Given the description of an element on the screen output the (x, y) to click on. 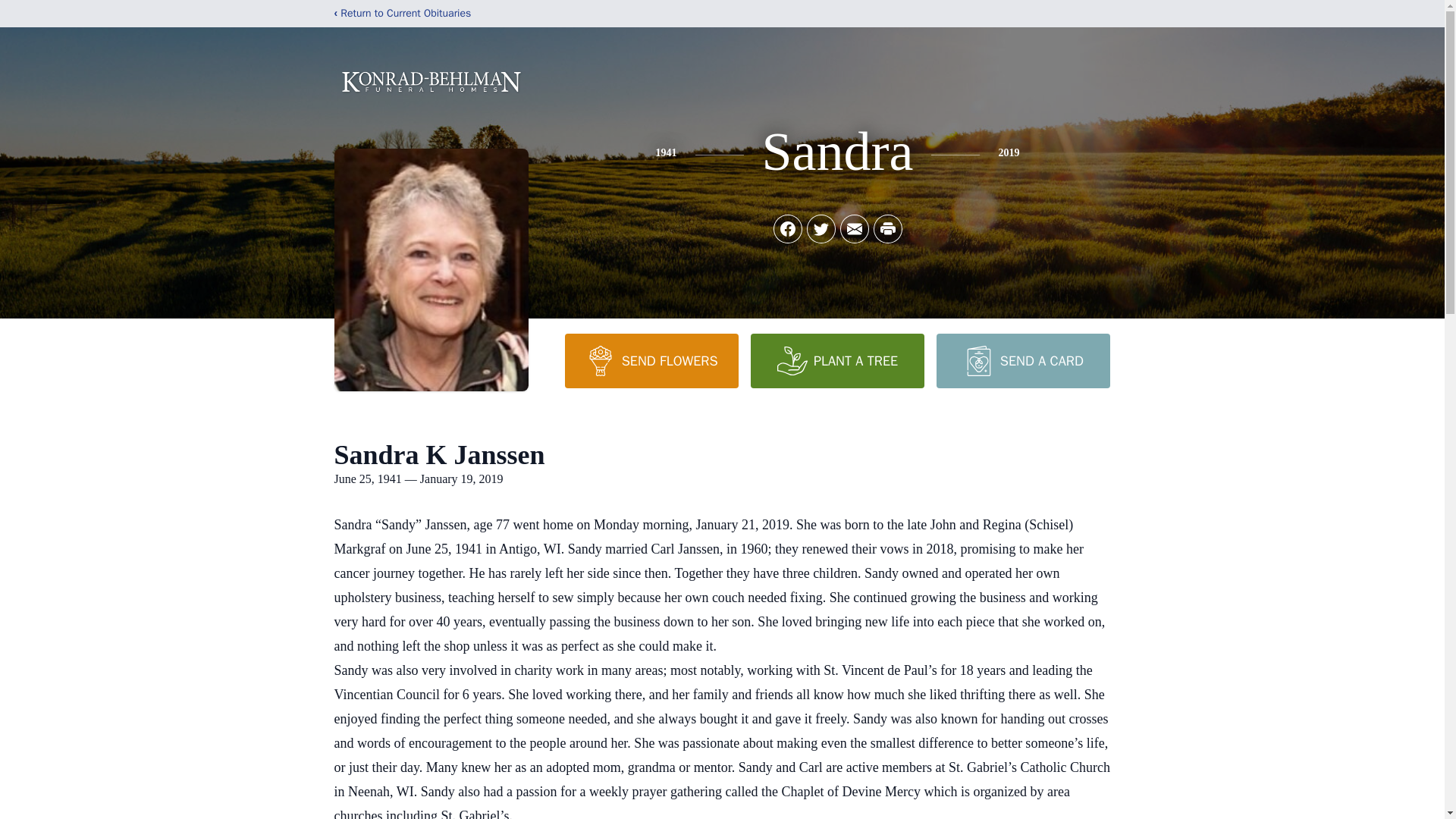
SEND FLOWERS (651, 360)
PLANT A TREE (837, 360)
SEND A CARD (1022, 360)
